Given the description of an element on the screen output the (x, y) to click on. 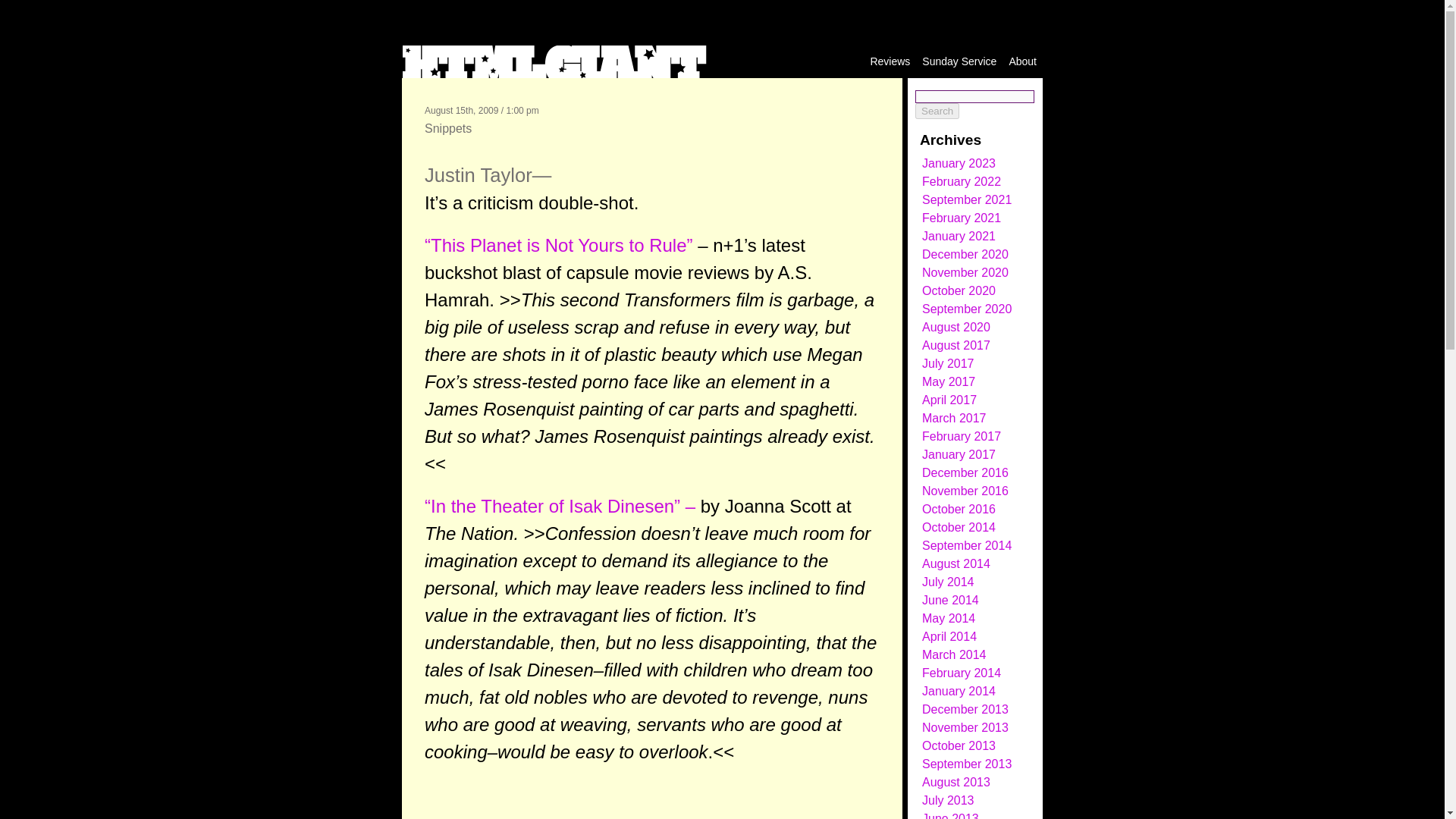
November 2016 (965, 490)
Search (937, 110)
October 2016 (958, 508)
July 2014 (947, 581)
November 2020 (965, 272)
February 2022 (961, 181)
September 2020 (966, 308)
April 2017 (948, 399)
July 2017 (947, 363)
September 2021 (966, 199)
